Given the description of an element on the screen output the (x, y) to click on. 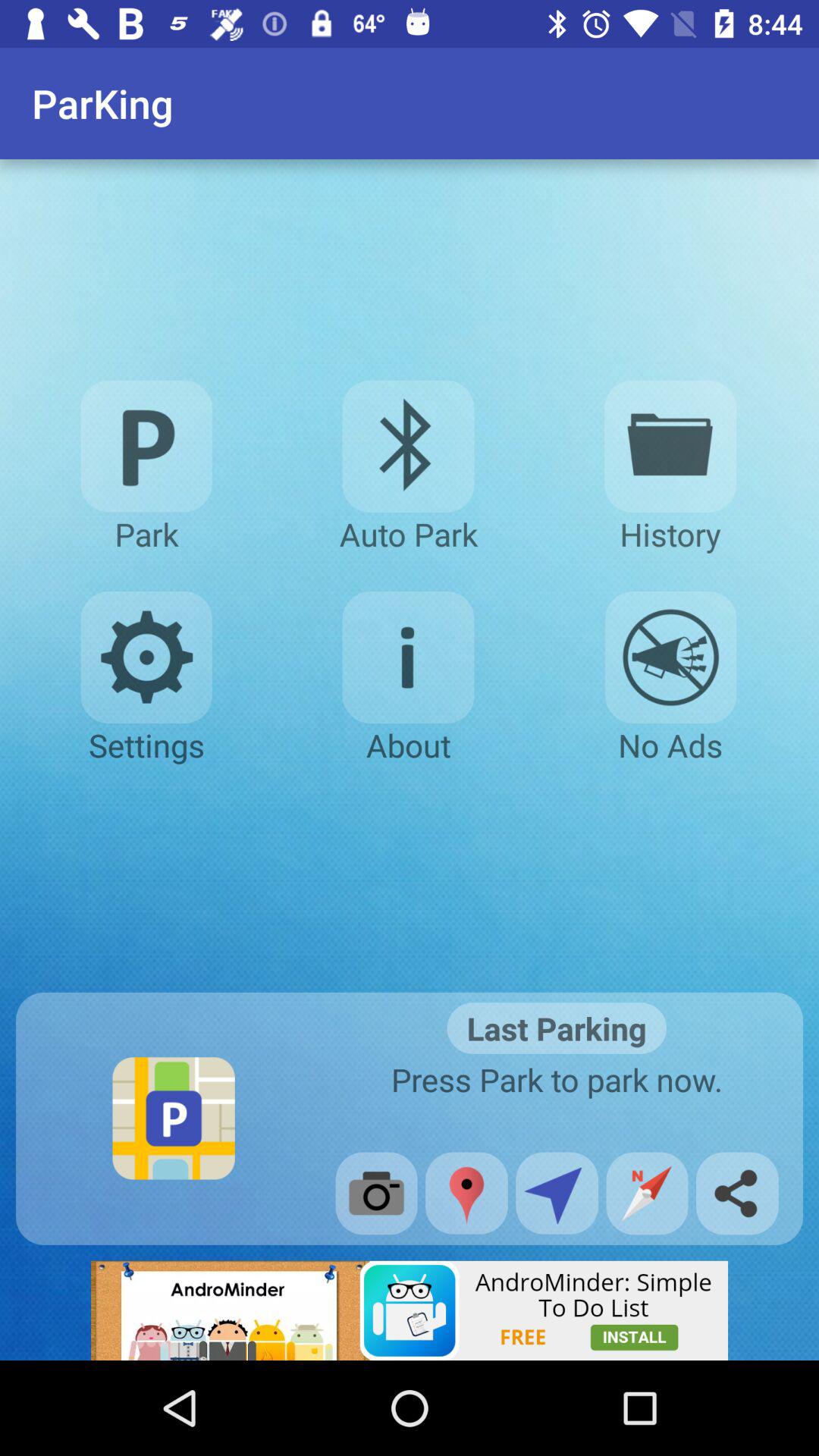
share parking information (737, 1193)
